Given the description of an element on the screen output the (x, y) to click on. 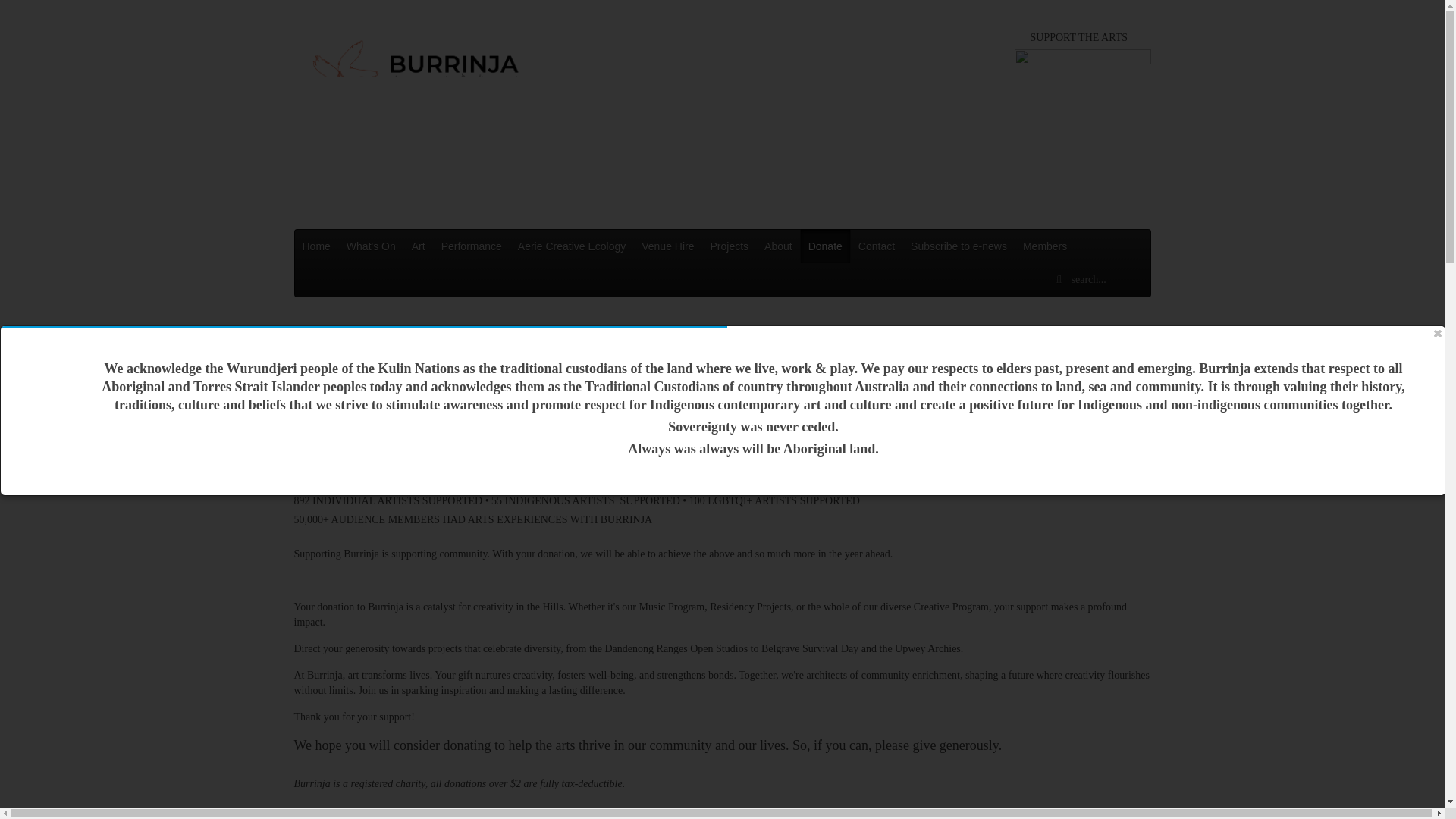
Home (316, 245)
What's On (370, 245)
Performance (471, 245)
Projects (729, 245)
Art (418, 245)
Aerie Creative Ecology (571, 245)
Venue Hire (667, 245)
